Given the description of an element on the screen output the (x, y) to click on. 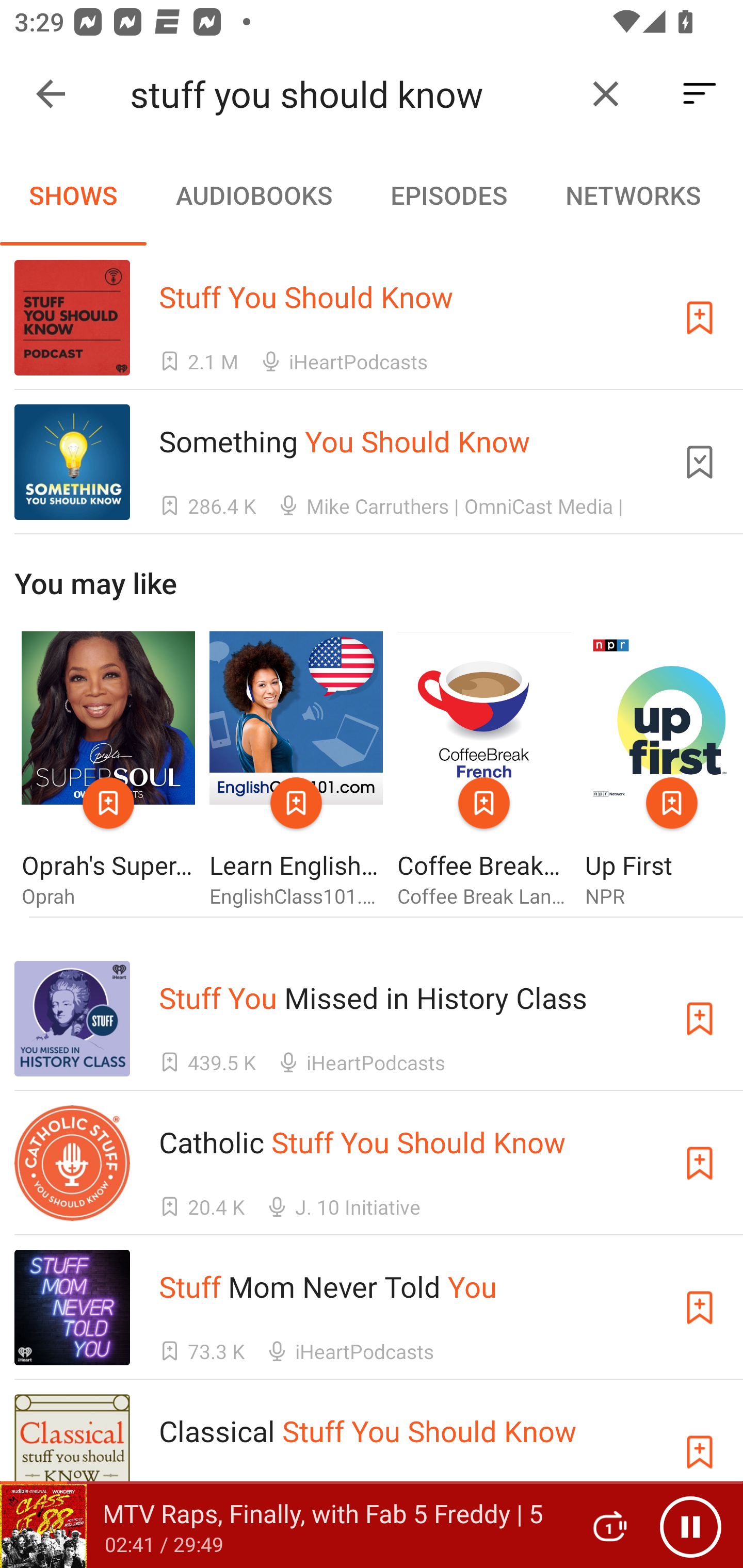
Collapse (50, 93)
Clear query (605, 93)
Sort By (699, 93)
stuff you should know (349, 94)
SHOWS (73, 195)
AUDIOBOOKS (253, 195)
EPISODES (448, 195)
NETWORKS (632, 195)
Subscribe (699, 317)
Unsubscribe (699, 462)
Oprah's Super Soul Oprah (107, 770)
Coffee Break French Coffee Break Languages (483, 770)
Up First NPR (664, 770)
Subscribe (699, 1019)
Subscribe (699, 1163)
Subscribe (699, 1307)
Subscribe (699, 1451)
Pause (690, 1526)
